Given the description of an element on the screen output the (x, y) to click on. 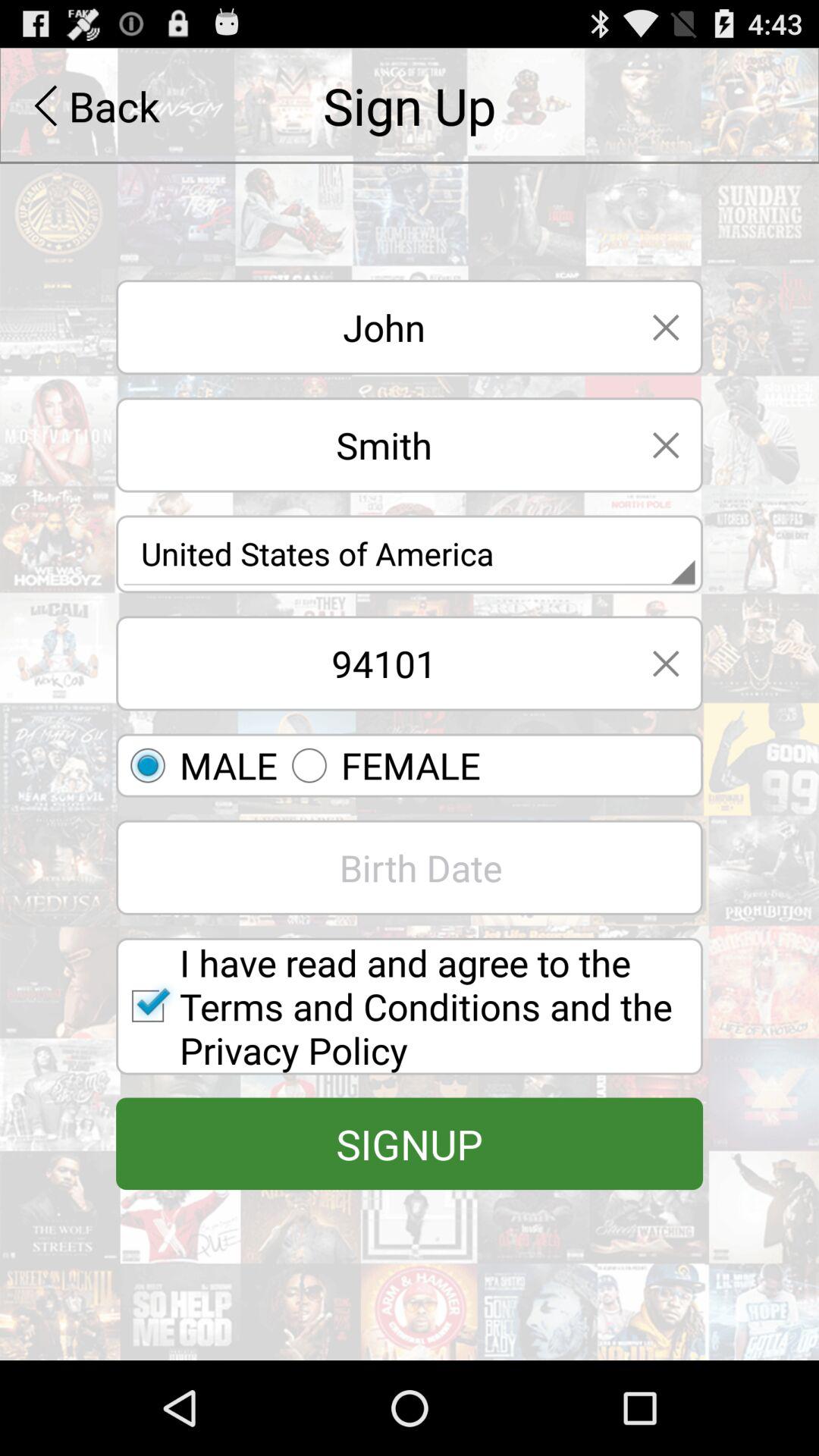
select the second gender option (378, 765)
select the number field (372, 663)
click on signup (409, 1143)
click on smith text option below john (372, 445)
click on text box in which the text is john (372, 326)
select the text box which says birth date (409, 868)
select a  x  which is after 94101 on a page (666, 663)
select the first option for gender which is above the birth date (196, 765)
